Given the description of an element on the screen output the (x, y) to click on. 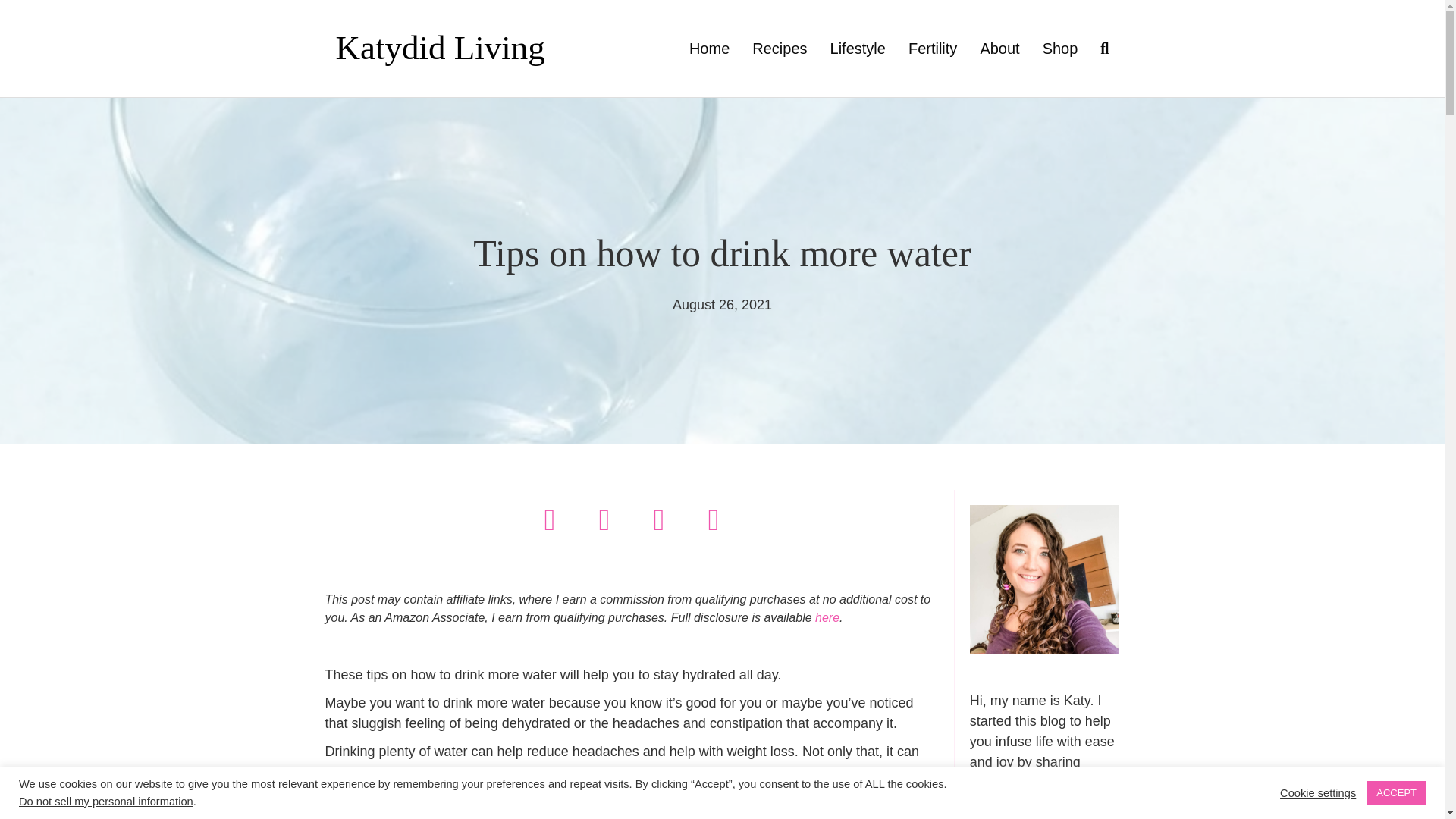
Recipes (779, 48)
Katy Image (1044, 580)
About (999, 48)
Fertility (932, 48)
Shop (1059, 48)
Home (709, 48)
Lifestyle (857, 48)
here (827, 617)
Katydid Living (457, 48)
